Given the description of an element on the screen output the (x, y) to click on. 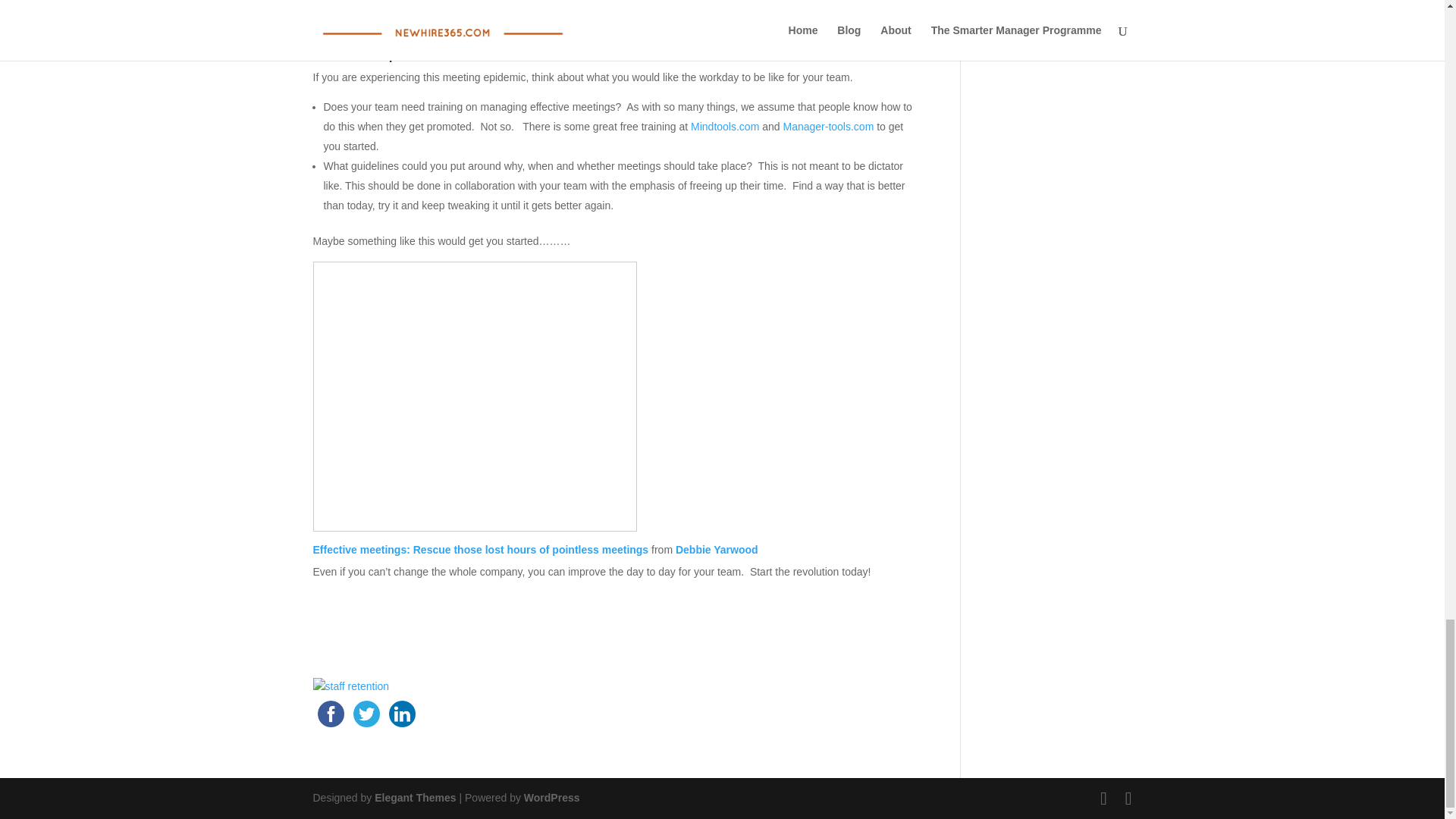
Manager-tools.com (828, 126)
Debbie Yarwood (716, 549)
facebook (330, 714)
Premium WordPress Themes (414, 797)
linkedin (401, 714)
Mindtools.com (724, 126)
twitter (366, 714)
